Given the description of an element on the screen output the (x, y) to click on. 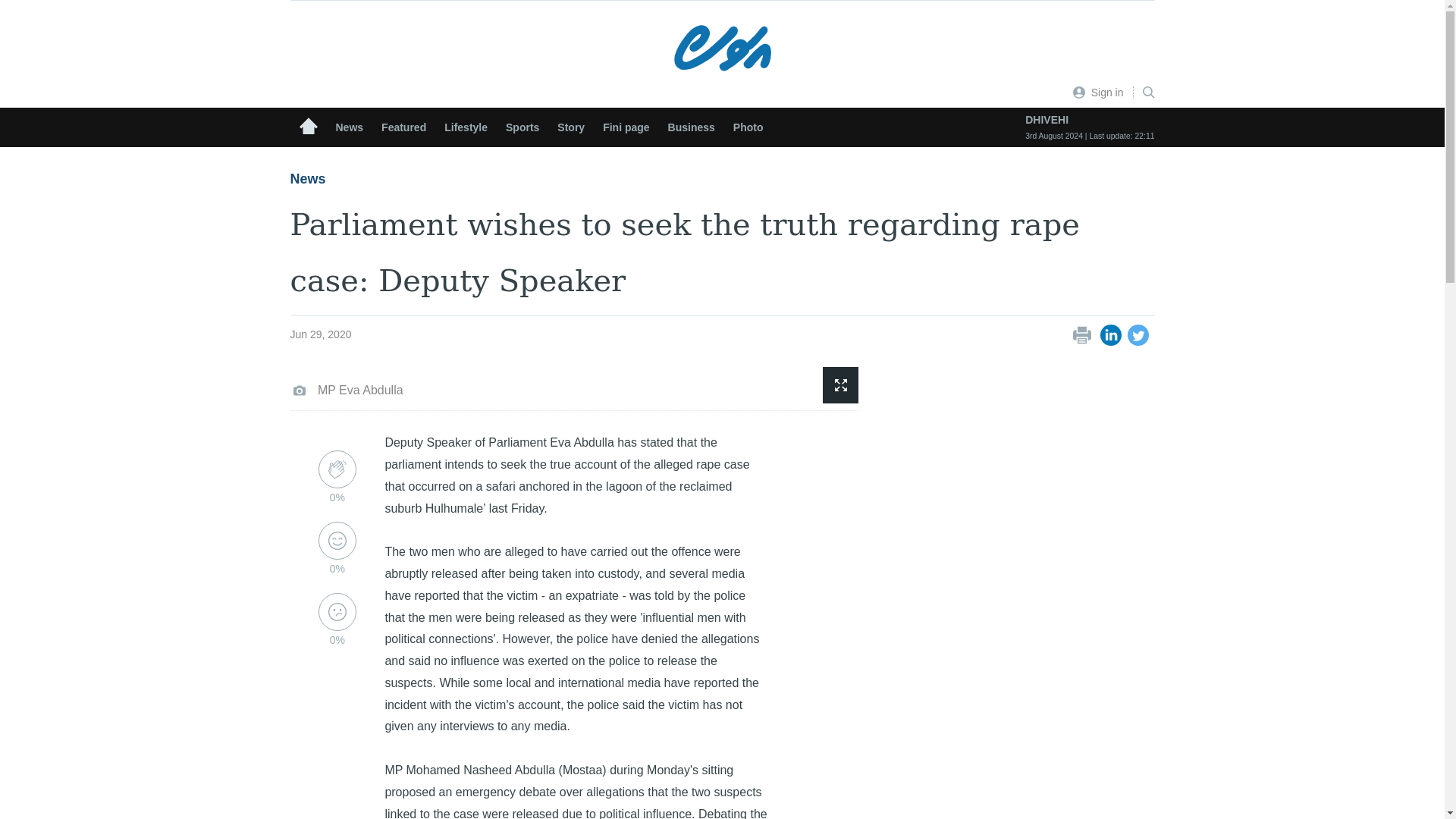
Business (691, 127)
News (349, 127)
Featured (403, 127)
News (721, 179)
Fini page (626, 127)
Story (571, 127)
Sign in (1098, 92)
Photo (748, 127)
DHIVEHI (1089, 119)
Sports (522, 127)
Lifestyle (465, 127)
